Given the description of an element on the screen output the (x, y) to click on. 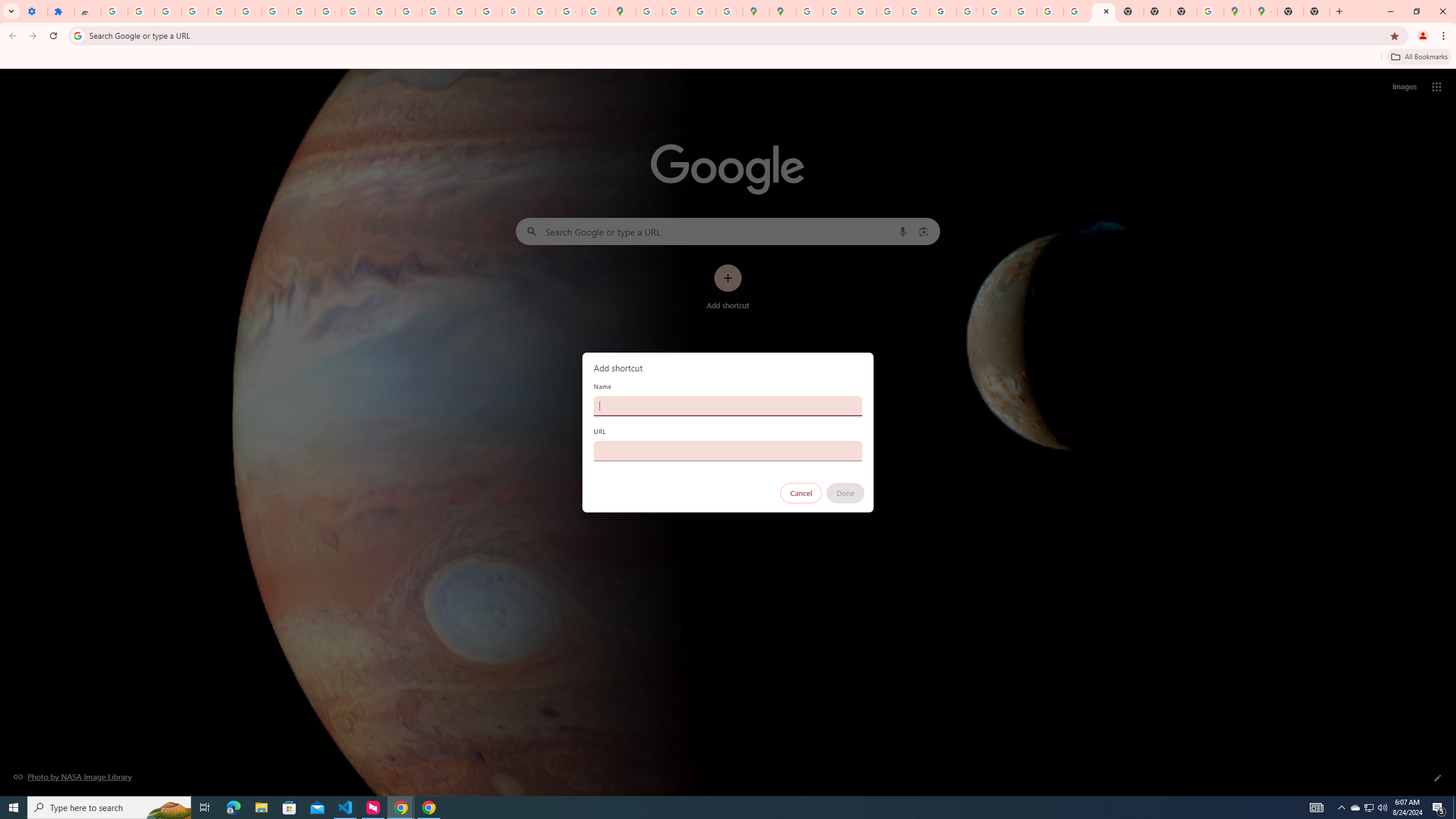
Sign in - Google Accounts (114, 11)
Sign in - Google Accounts (809, 11)
Google Maps (1263, 11)
Done (845, 493)
YouTube (301, 11)
Privacy Help Center - Policies Help (889, 11)
